Given the description of an element on the screen output the (x, y) to click on. 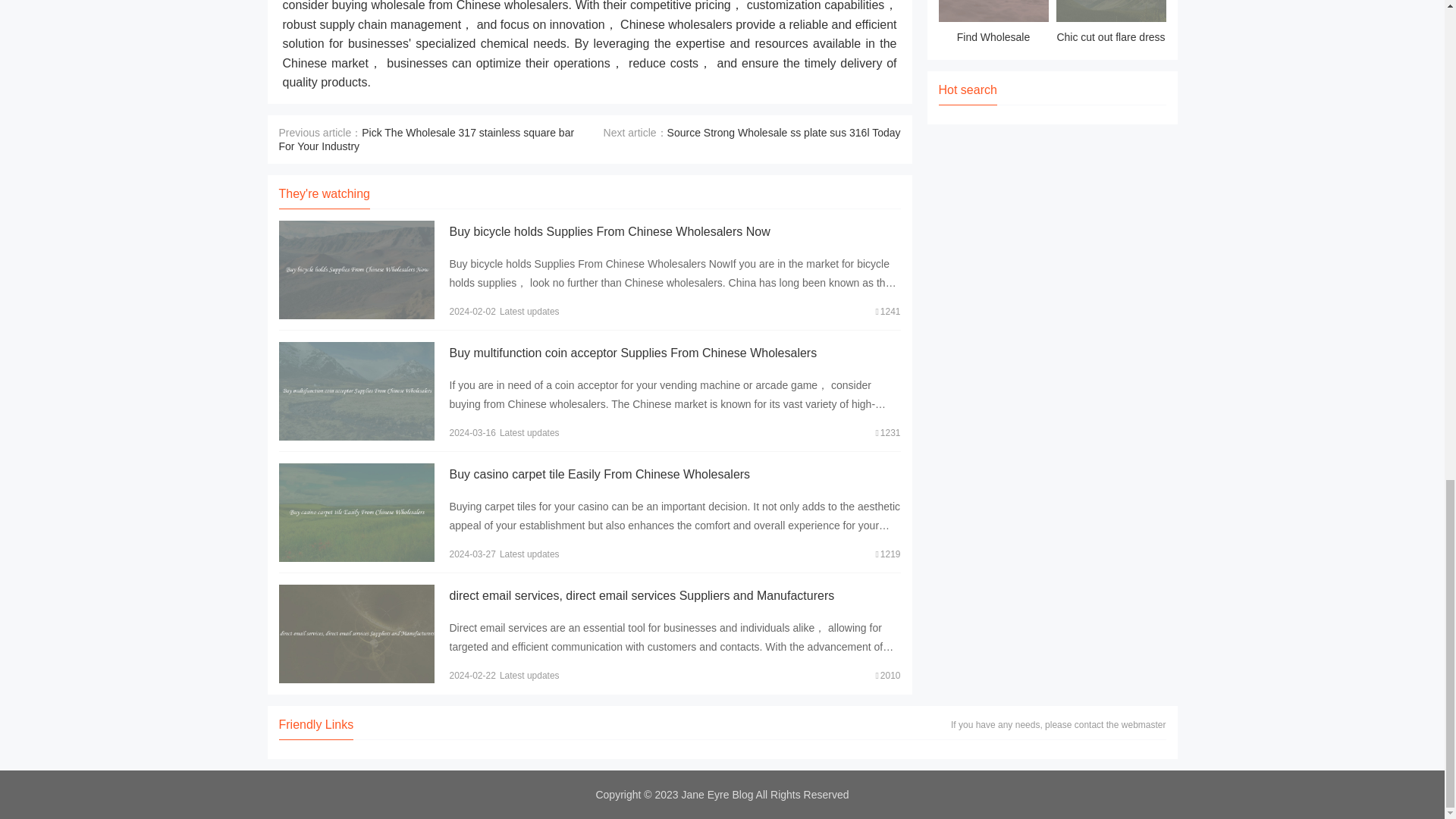
Source Strong Wholesale ss plate sus 316l Today (783, 132)
Buy bicycle holds Supplies From Chinese Wholesalers Now (609, 231)
Buy casino carpet tile Easily From Chinese Wholesalers (598, 473)
Chic cut out flare dress In A Variety Of Stylish Designs (1110, 24)
